Given the description of an element on the screen output the (x, y) to click on. 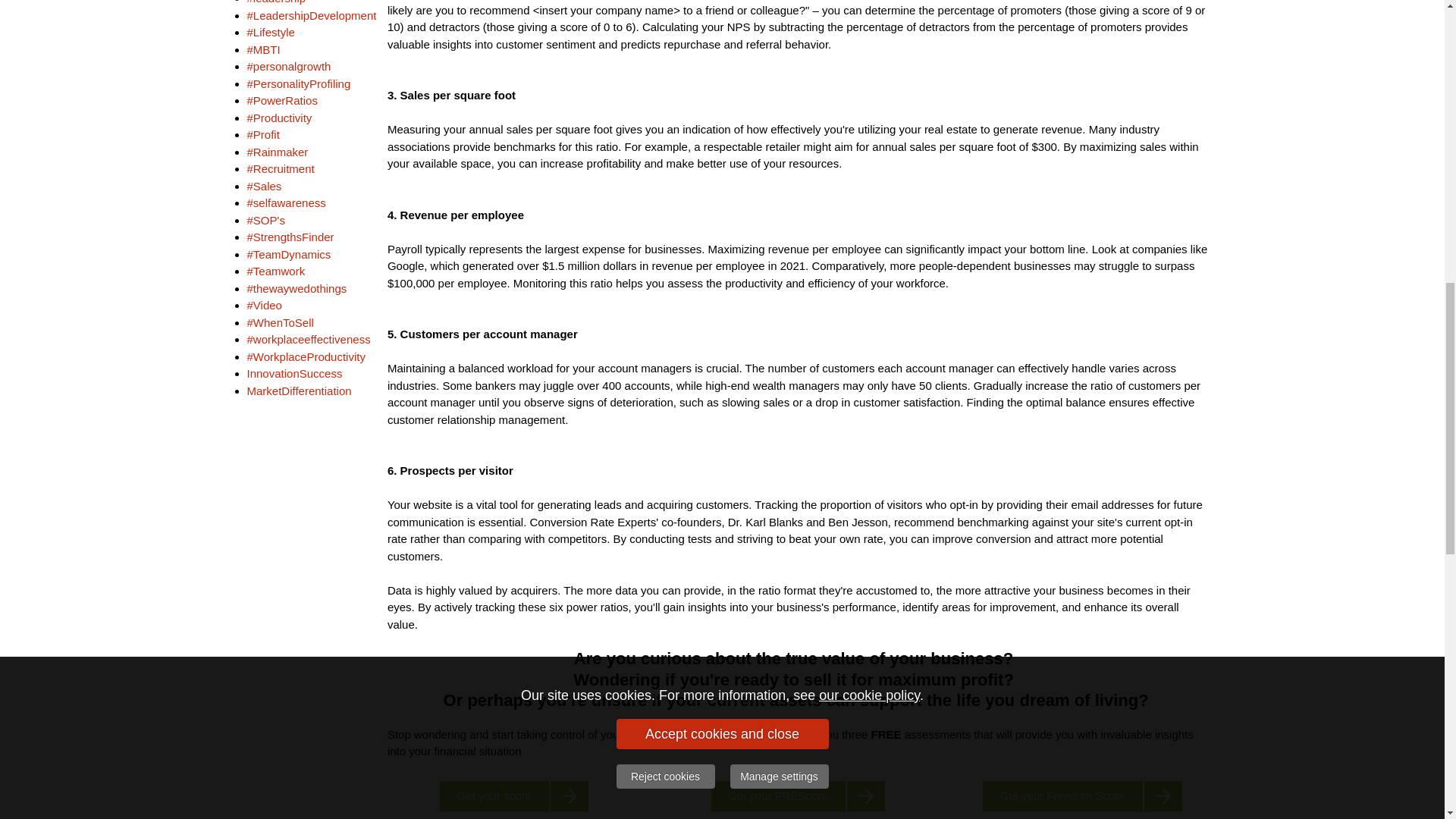
Get your Freedom Score (1082, 796)
Get your PREScore (798, 796)
Get your score (513, 796)
